Given the description of an element on the screen output the (x, y) to click on. 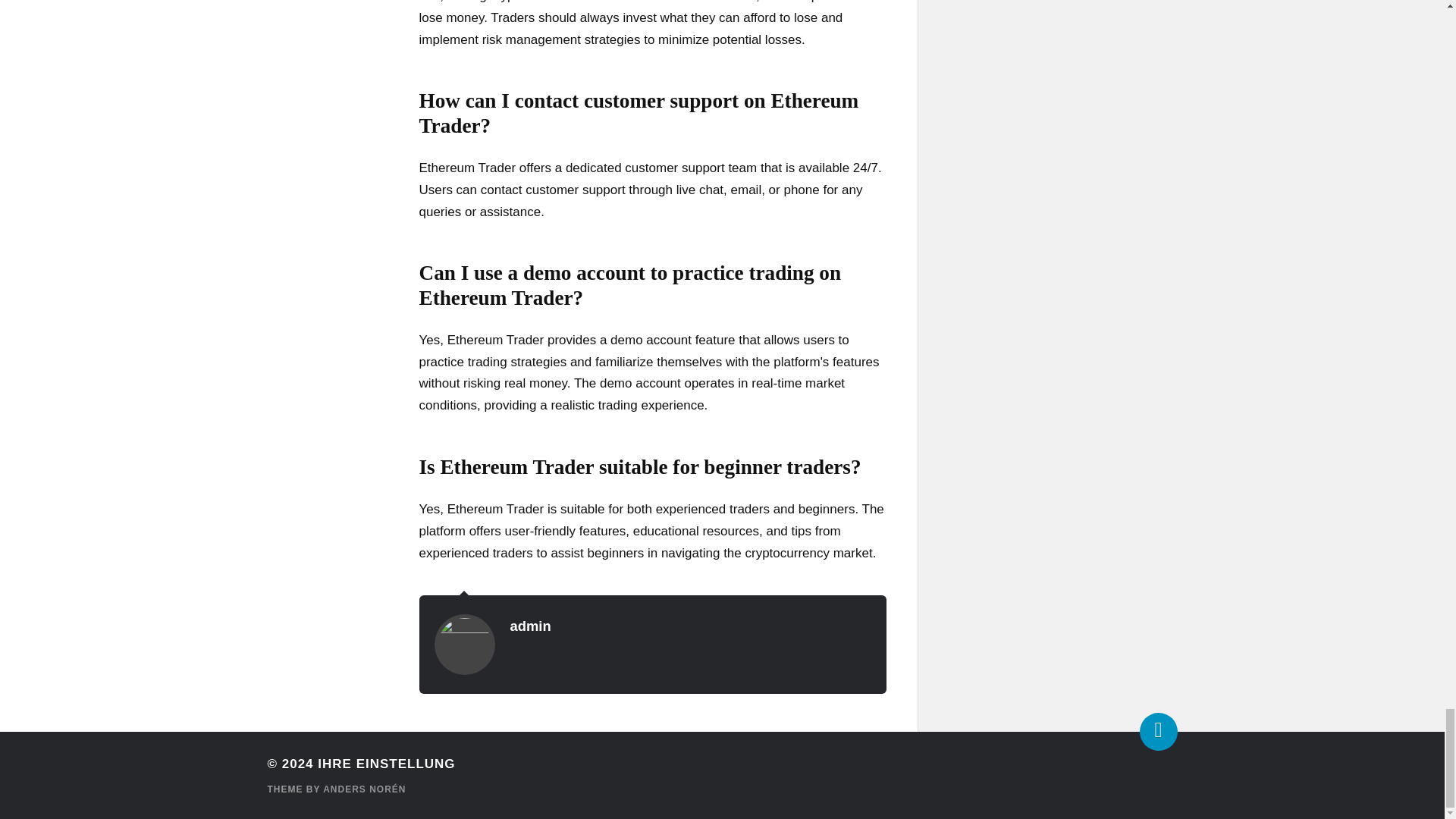
admin (529, 625)
